Given the description of an element on the screen output the (x, y) to click on. 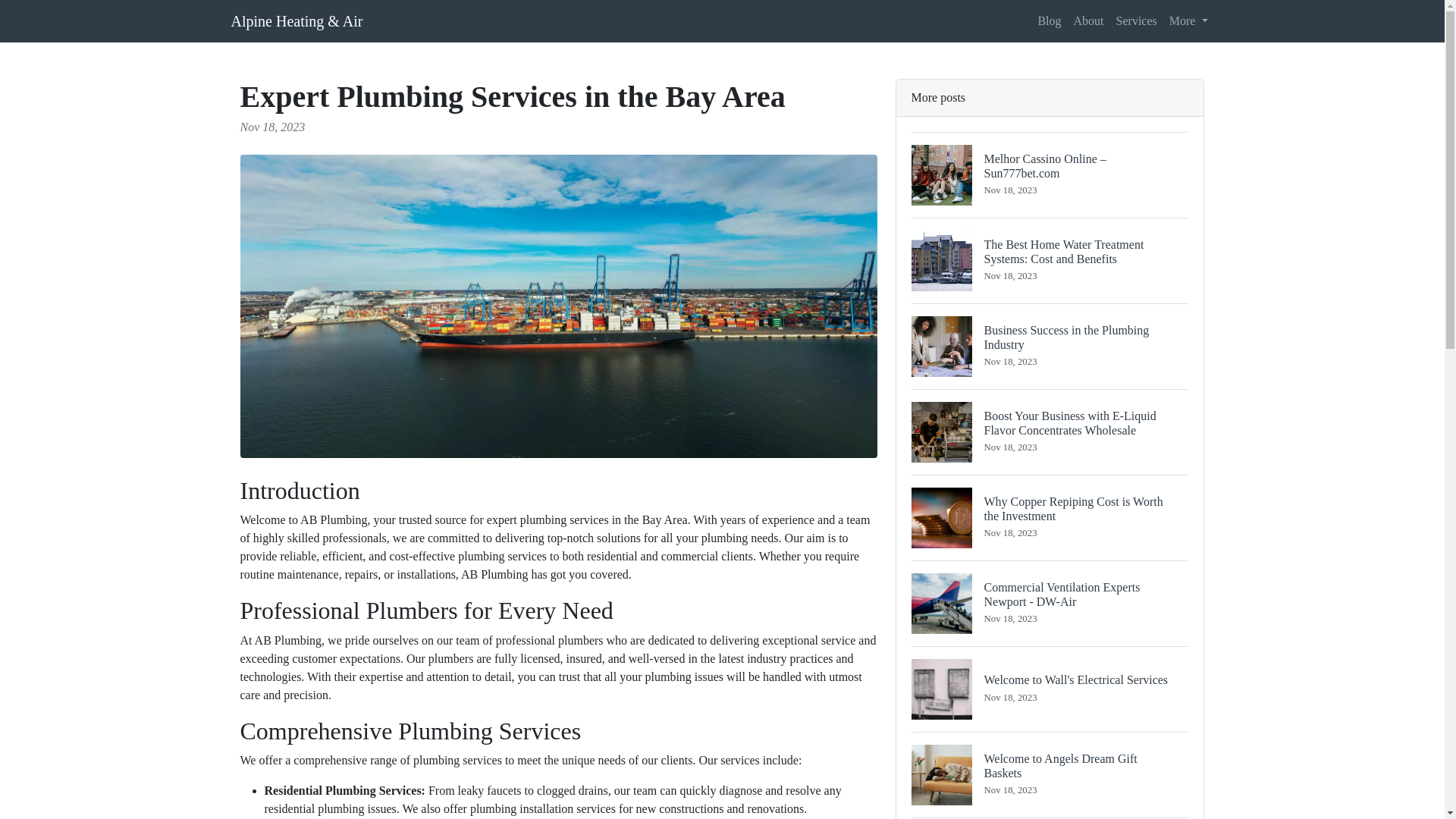
More (1188, 20)
Services (1136, 20)
About (1050, 689)
